Given the description of an element on the screen output the (x, y) to click on. 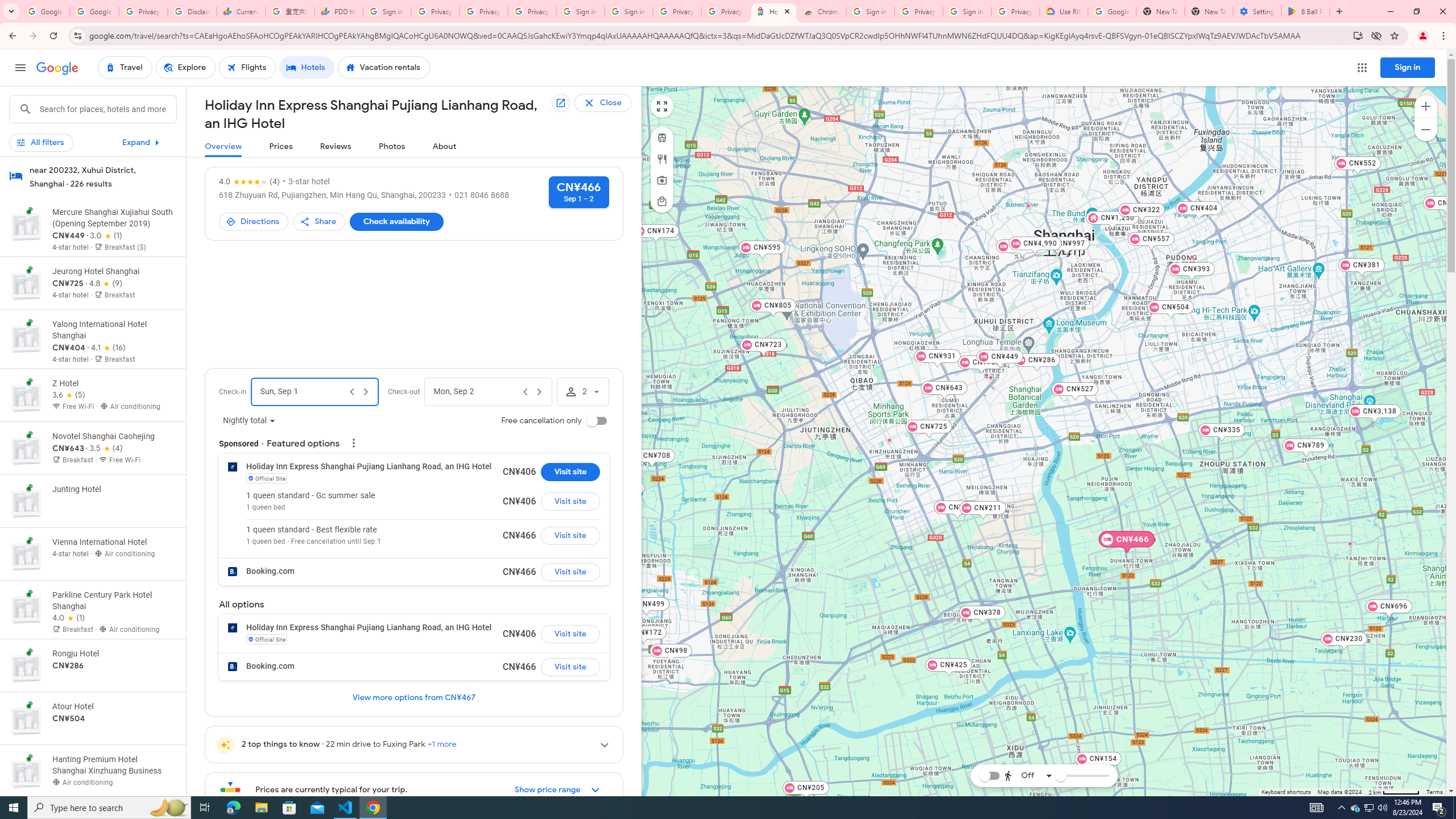
Drive (1025, 743)
Sign in - Google Accounts (870, 11)
Keyboard shortcuts (1285, 791)
Settings - System (1257, 11)
Travel (124, 67)
All filters (40, 142)
Parkline Century Park Hotel Shanghai (1191, 256)
Areas for shopping (661, 201)
Vacation rentals (383, 67)
